Given the description of an element on the screen output the (x, y) to click on. 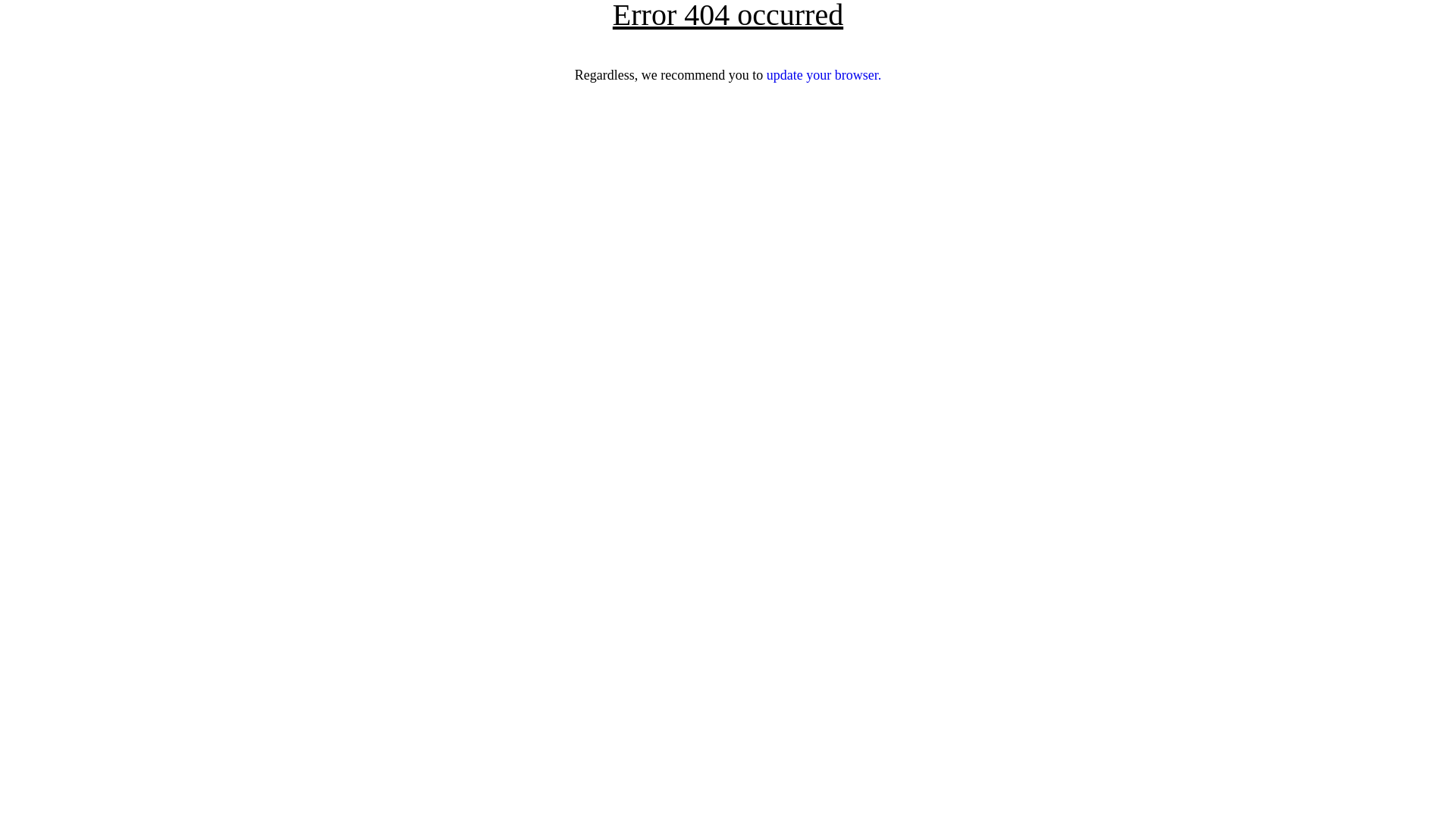
update your browser. Element type: text (823, 74)
